Given the description of an element on the screen output the (x, y) to click on. 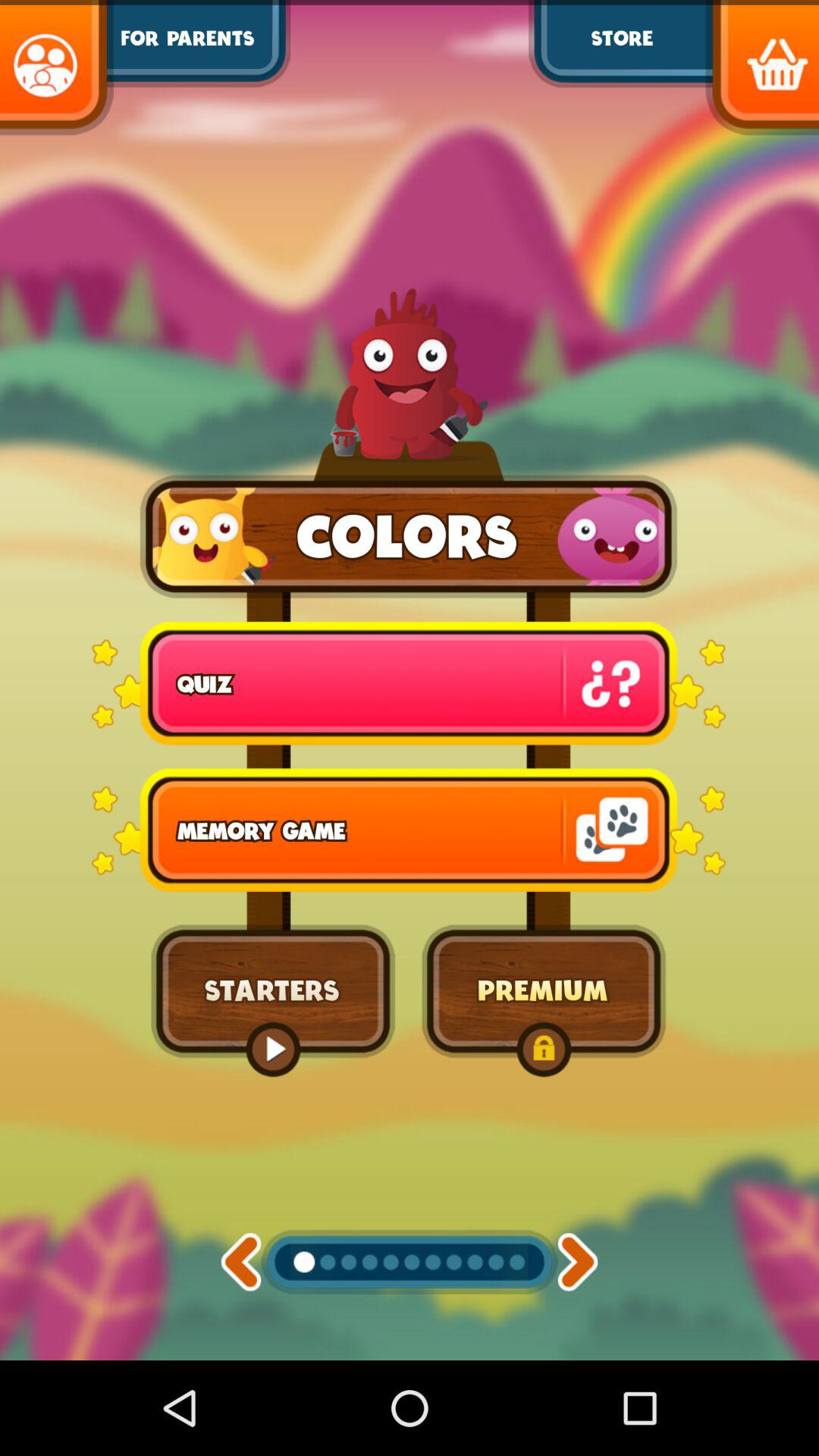
click on memory game (408, 830)
